Given the description of an element on the screen output the (x, y) to click on. 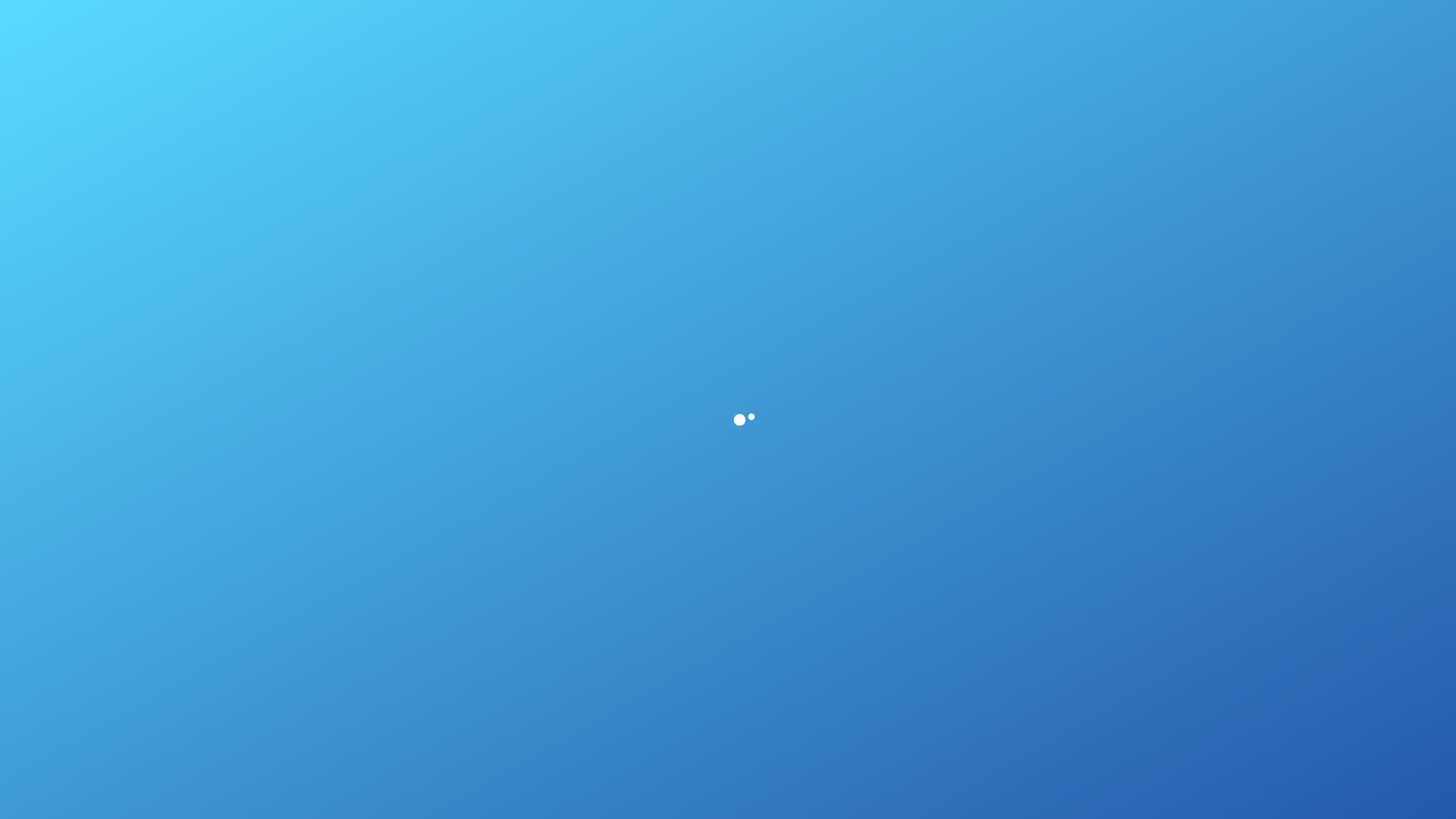
Manufacturing (744, 677)
Contact Us (627, 709)
NBFCs (724, 615)
Blog (608, 677)
About Us (734, 24)
Contact Us (1109, 24)
Contact Us (1410, 773)
About Us (621, 584)
Home (611, 552)
Services (727, 646)
Home (673, 24)
Media (720, 584)
Services (883, 24)
Apply Now (360, 461)
Careers (617, 646)
